Given the description of an element on the screen output the (x, y) to click on. 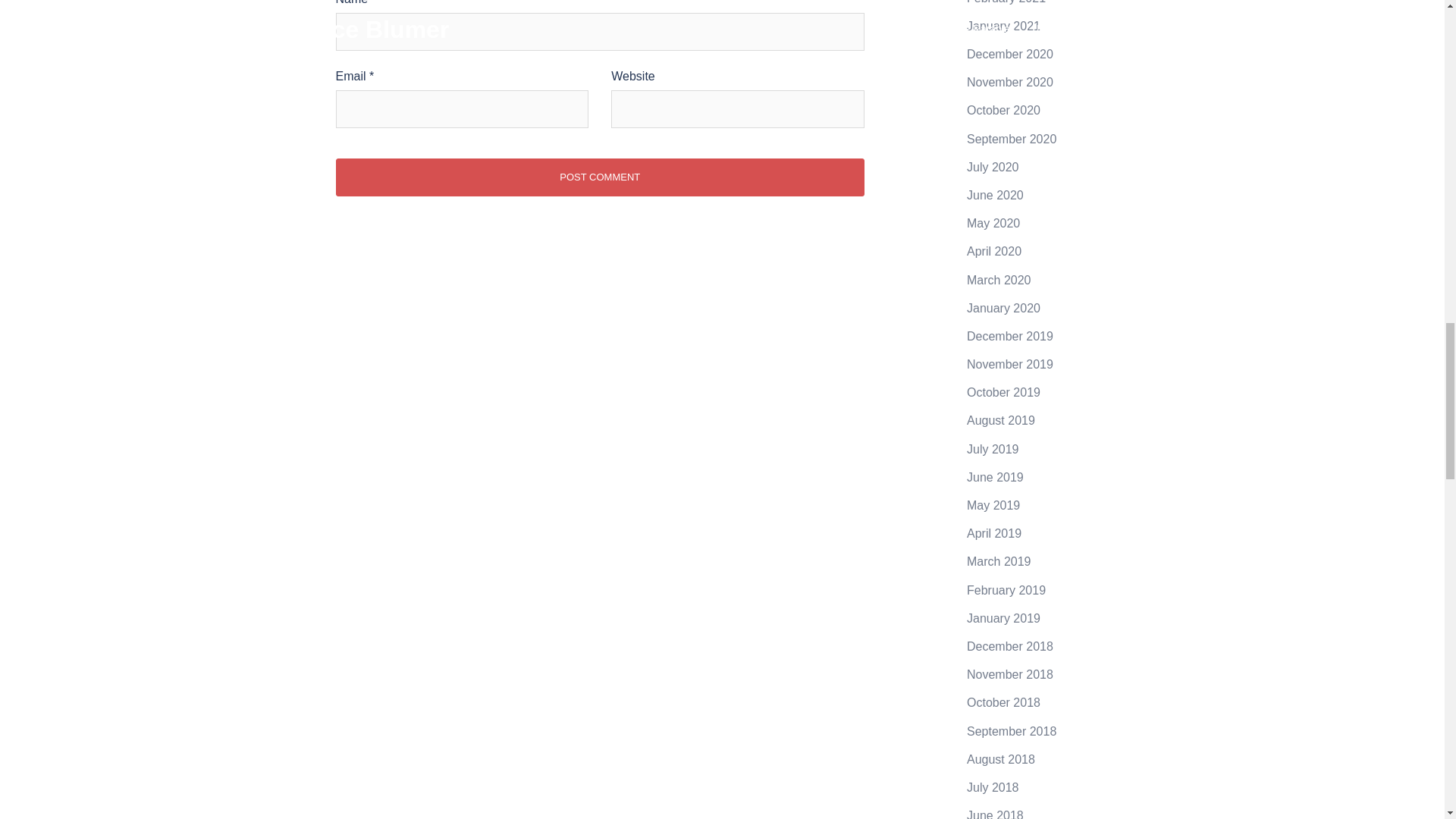
Post Comment (599, 177)
Post Comment (599, 177)
